Given the description of an element on the screen output the (x, y) to click on. 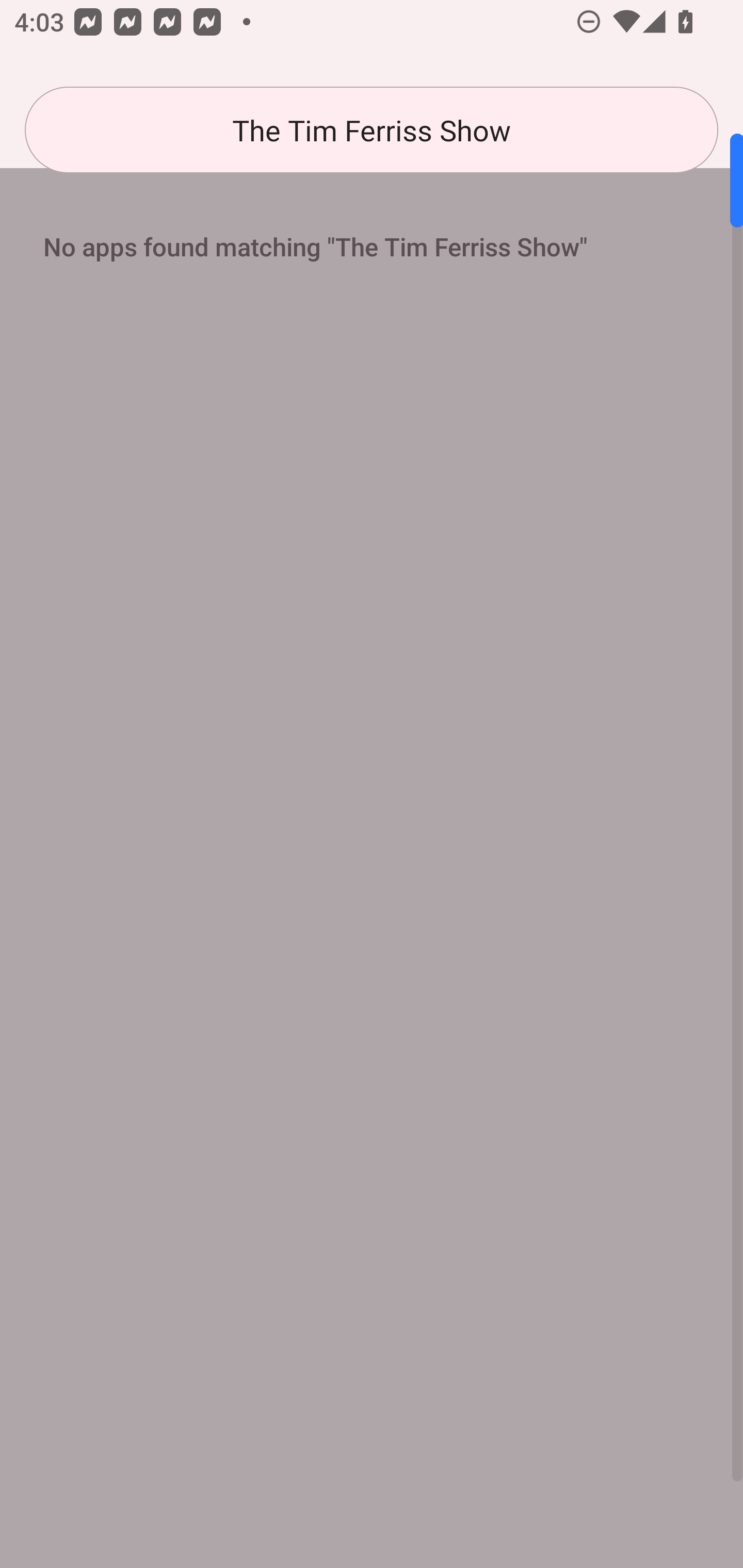
The Tim Ferriss Show (371, 130)
